Given the description of an element on the screen output the (x, y) to click on. 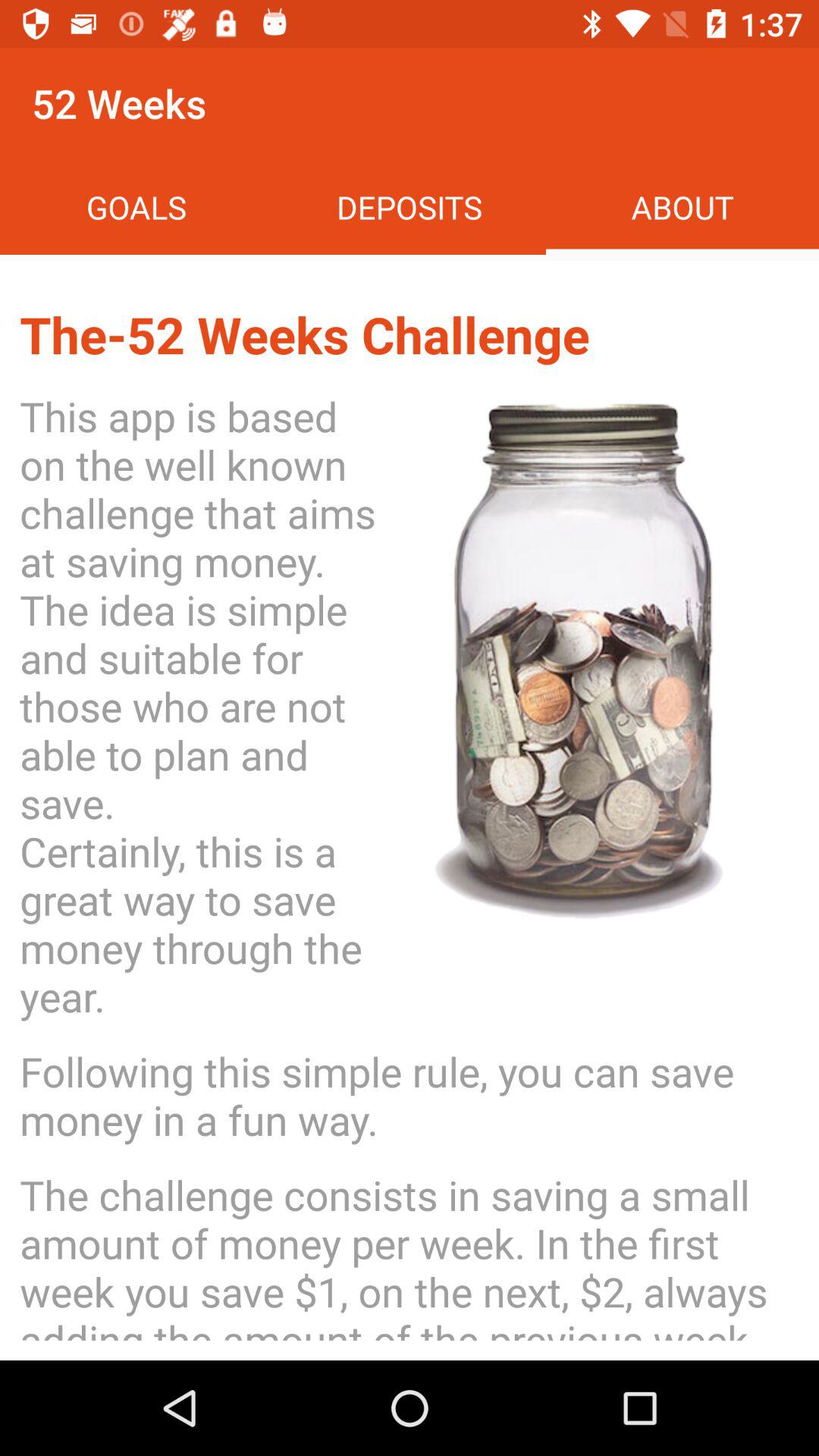
swipe to the about icon (682, 206)
